Given the description of an element on the screen output the (x, y) to click on. 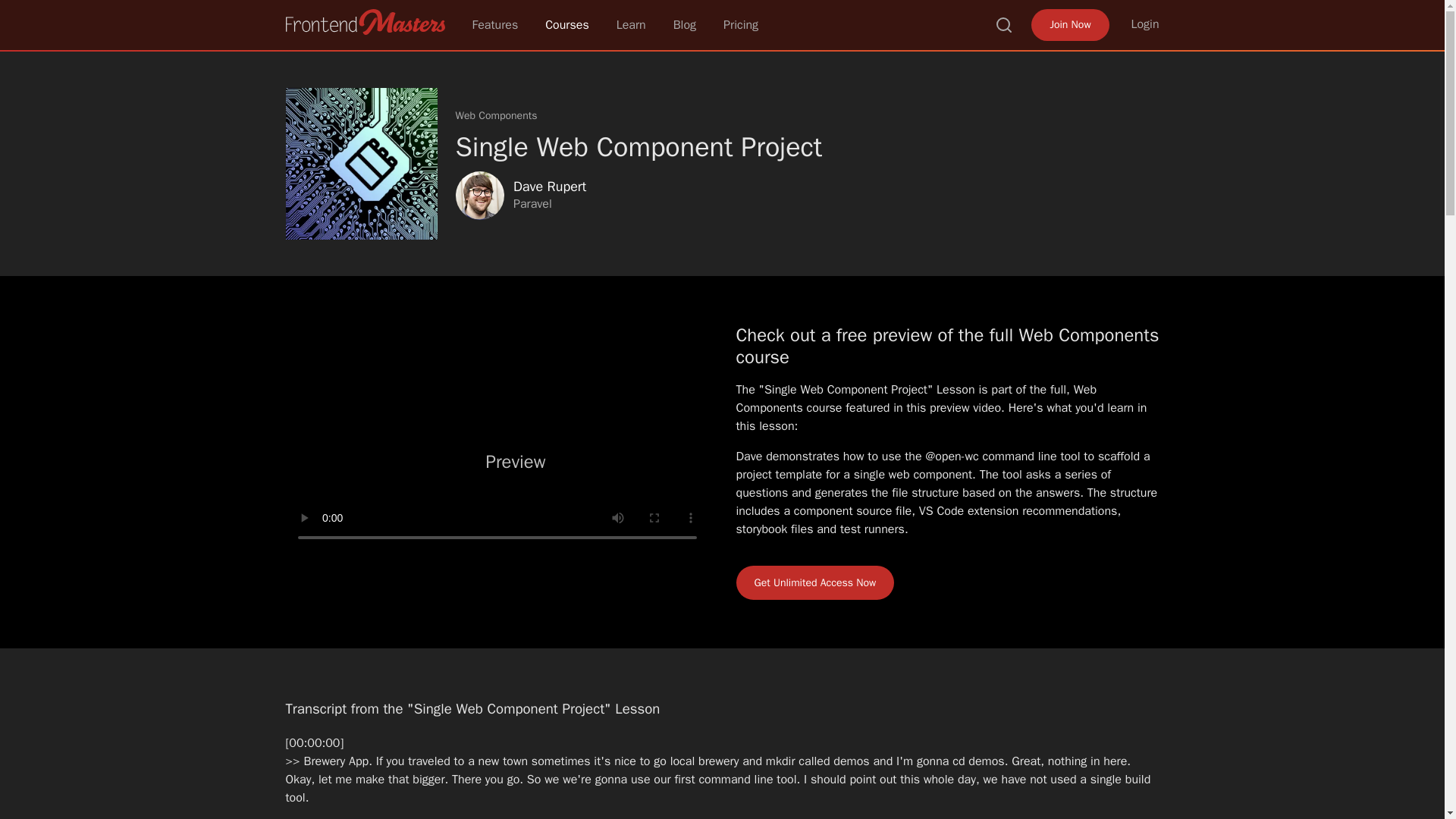
Join Now (1069, 24)
Learn (630, 24)
Dave Rupert (478, 195)
Courses (566, 24)
Features (494, 24)
Blog (683, 24)
Dave Rupert (548, 186)
Login (1144, 24)
Pricing (740, 24)
Get Unlimited Access Now (814, 582)
Web Components (495, 115)
FrontendMasters (364, 22)
Search (1003, 24)
